Given the description of an element on the screen output the (x, y) to click on. 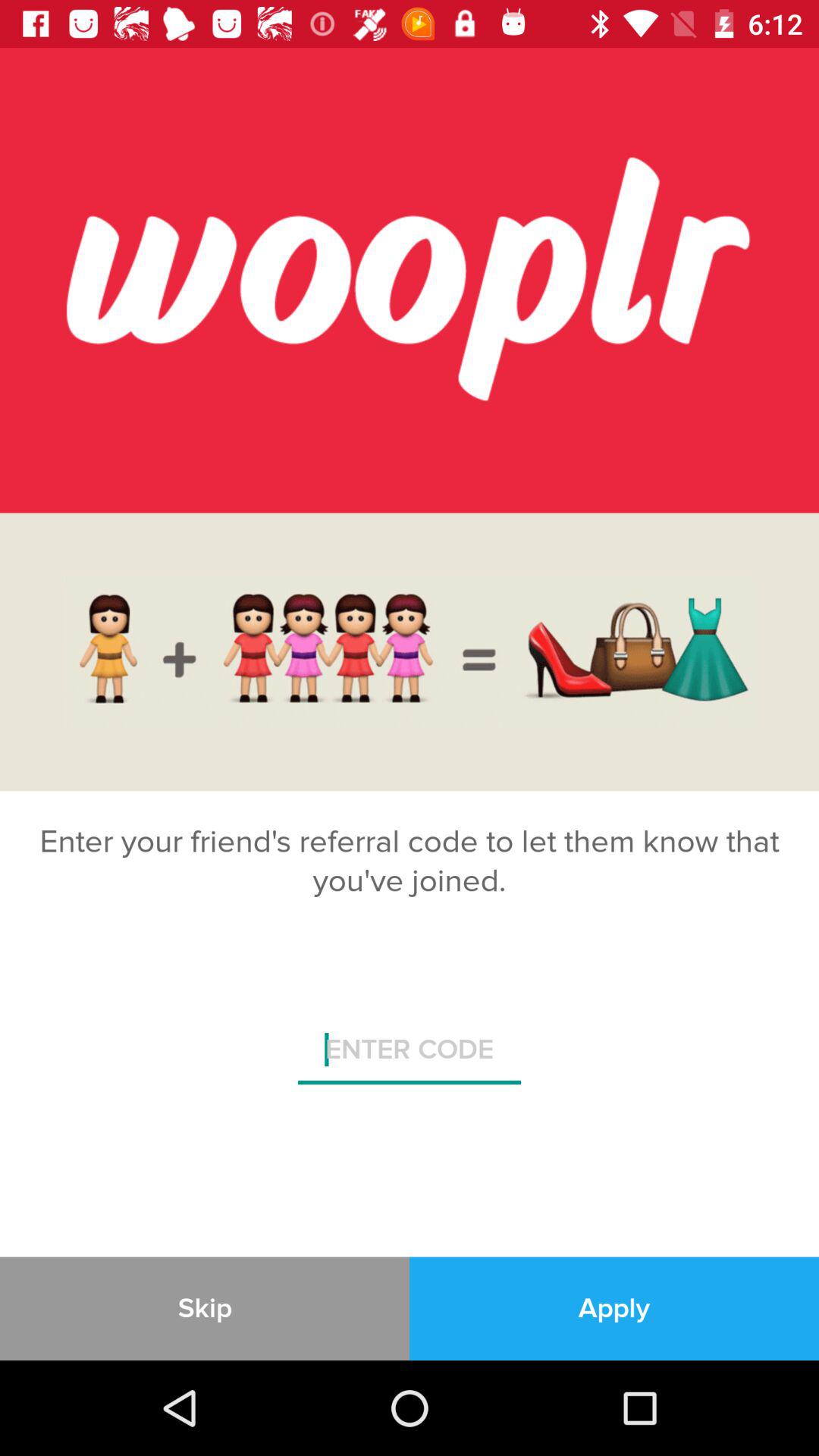
choose the skip icon (204, 1308)
